Given the description of an element on the screen output the (x, y) to click on. 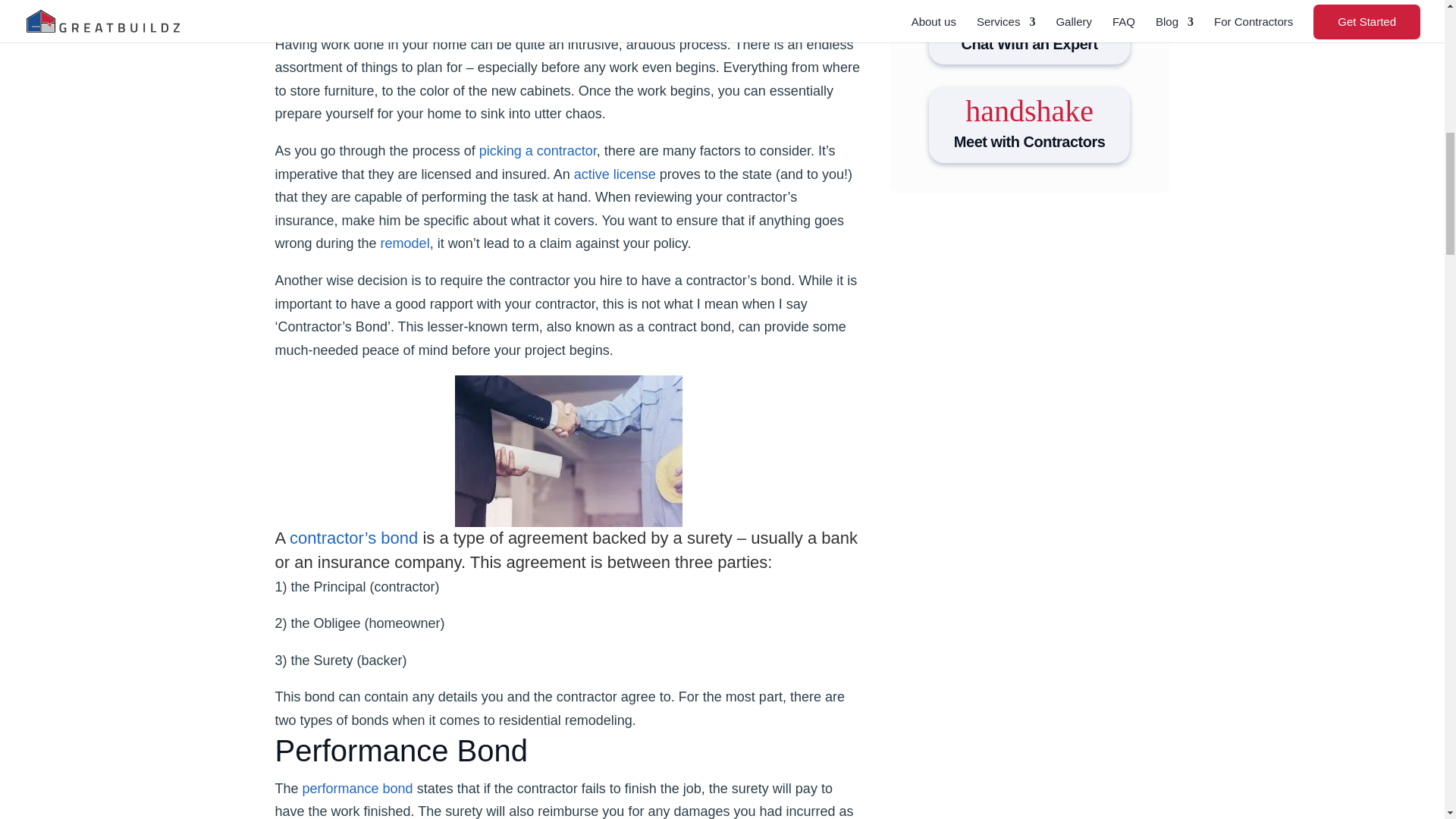
picking a contractor (537, 150)
active license (614, 174)
performance bond (357, 788)
remodel (404, 242)
